Given the description of an element on the screen output the (x, y) to click on. 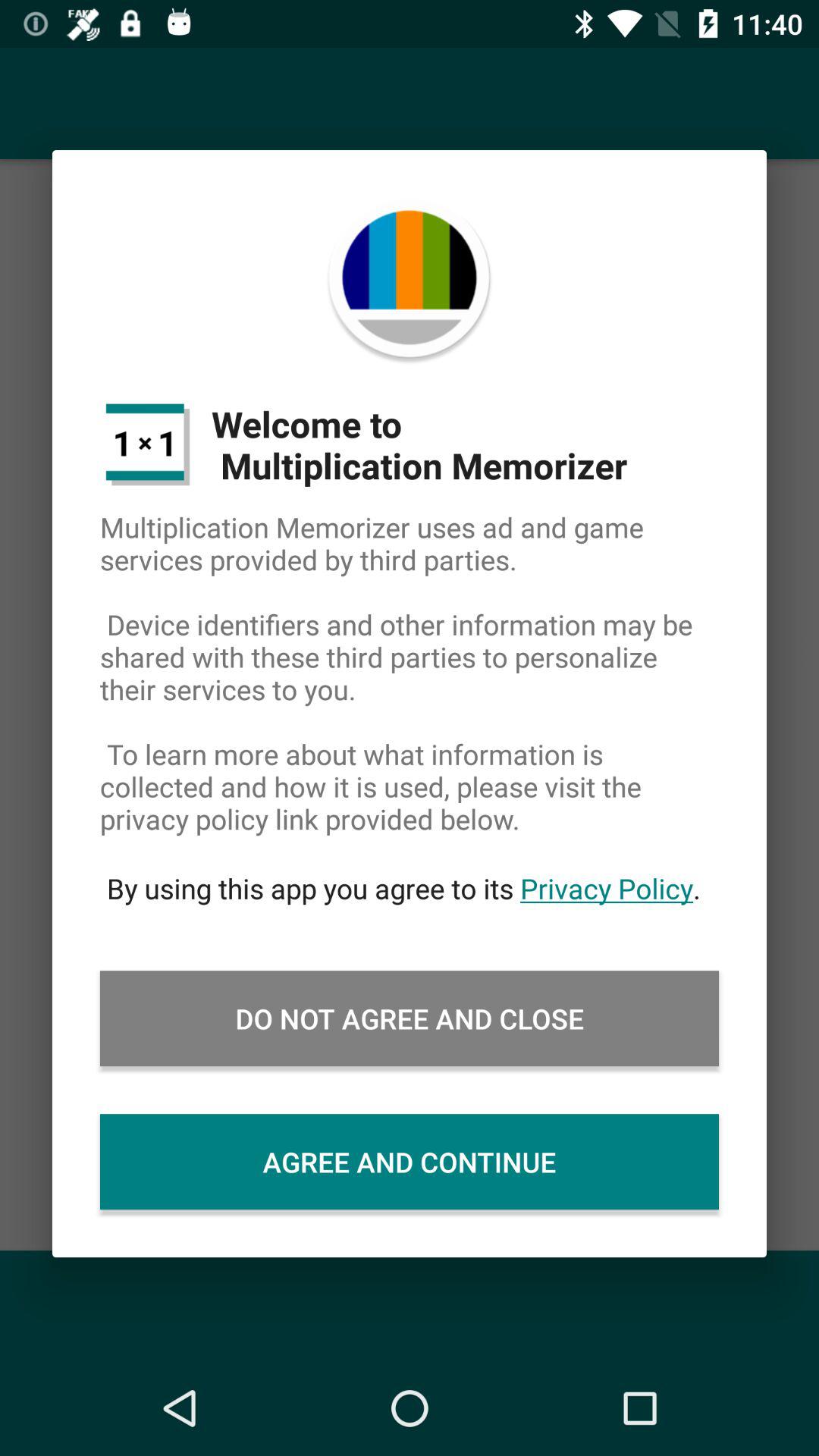
swipe until do not agree (409, 1018)
